Given the description of an element on the screen output the (x, y) to click on. 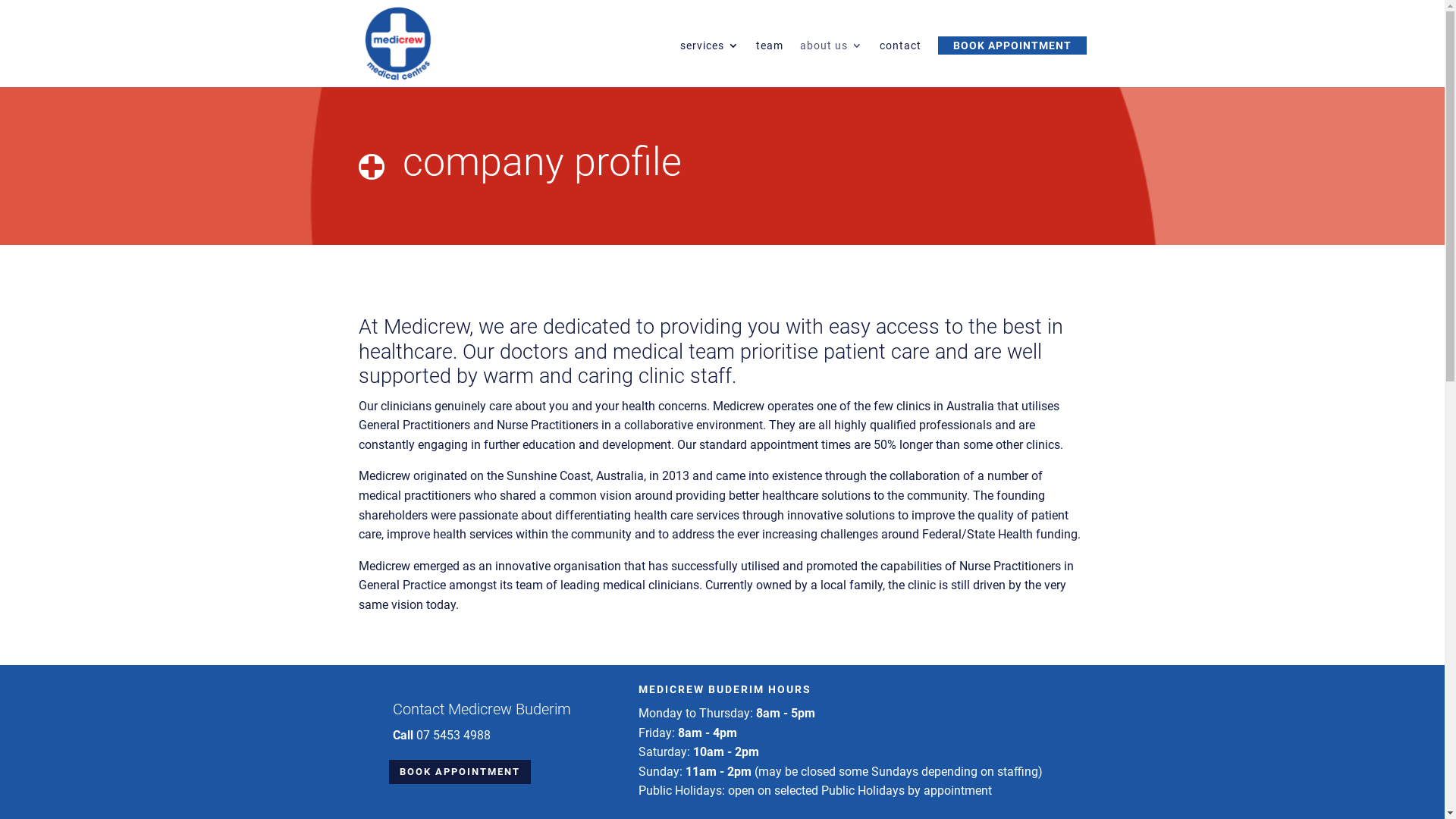
BOOK APPOINTMENT Element type: text (459, 771)
about us Element type: text (830, 63)
BOOK APPOINTMENT Element type: text (1011, 45)
services Element type: text (708, 63)
contact Element type: text (900, 63)
team Element type: text (768, 63)
